Given the description of an element on the screen output the (x, y) to click on. 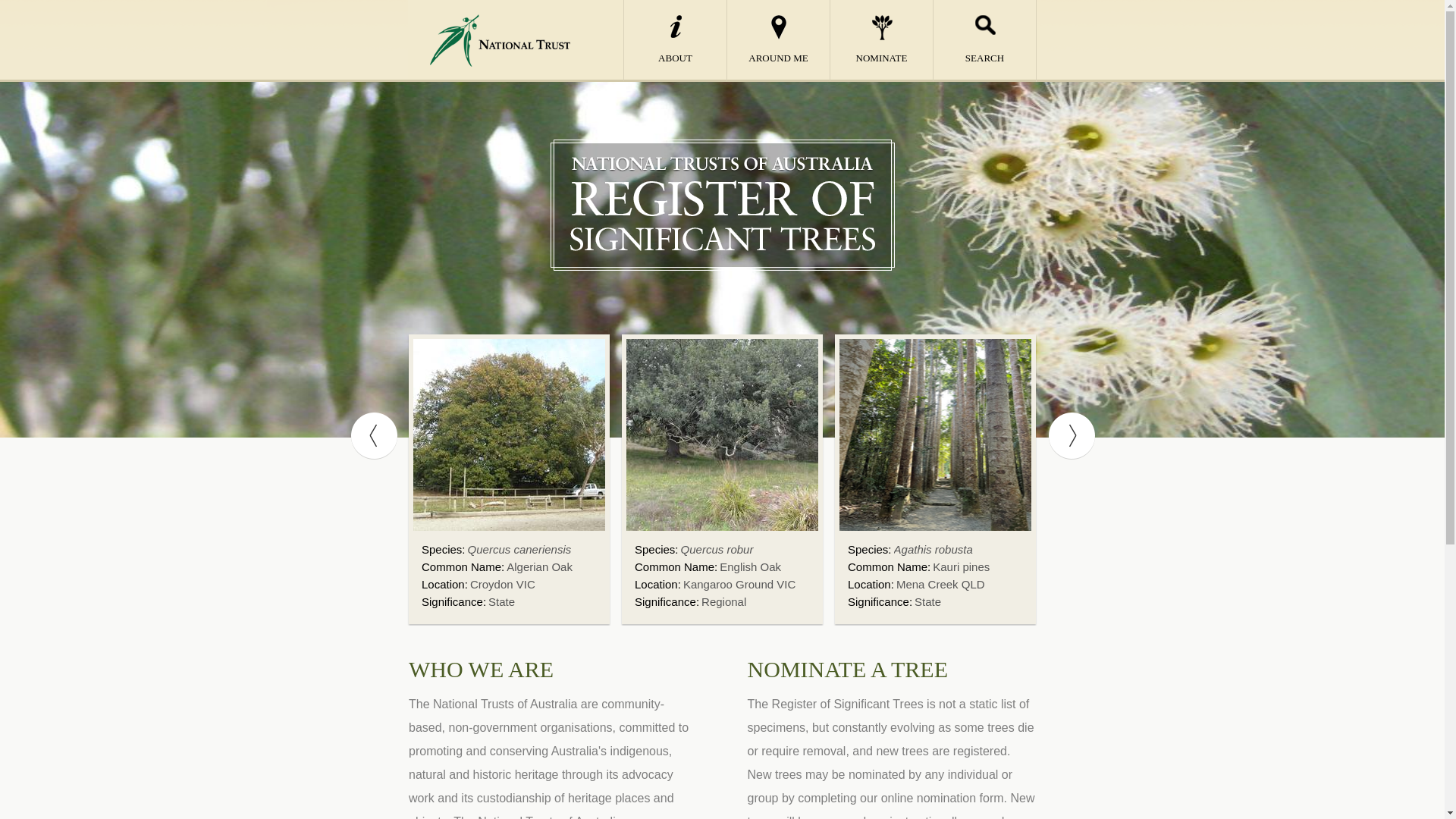
NationalTrust Element type: text (492, 39)
SEARCH Element type: text (983, 40)
Next Element type: text (1071, 435)
AROUND ME Element type: text (777, 40)
NOMINATE Element type: text (880, 40)
ABOUT Element type: text (674, 40)
Previous Element type: text (374, 435)
